Given the description of an element on the screen output the (x, y) to click on. 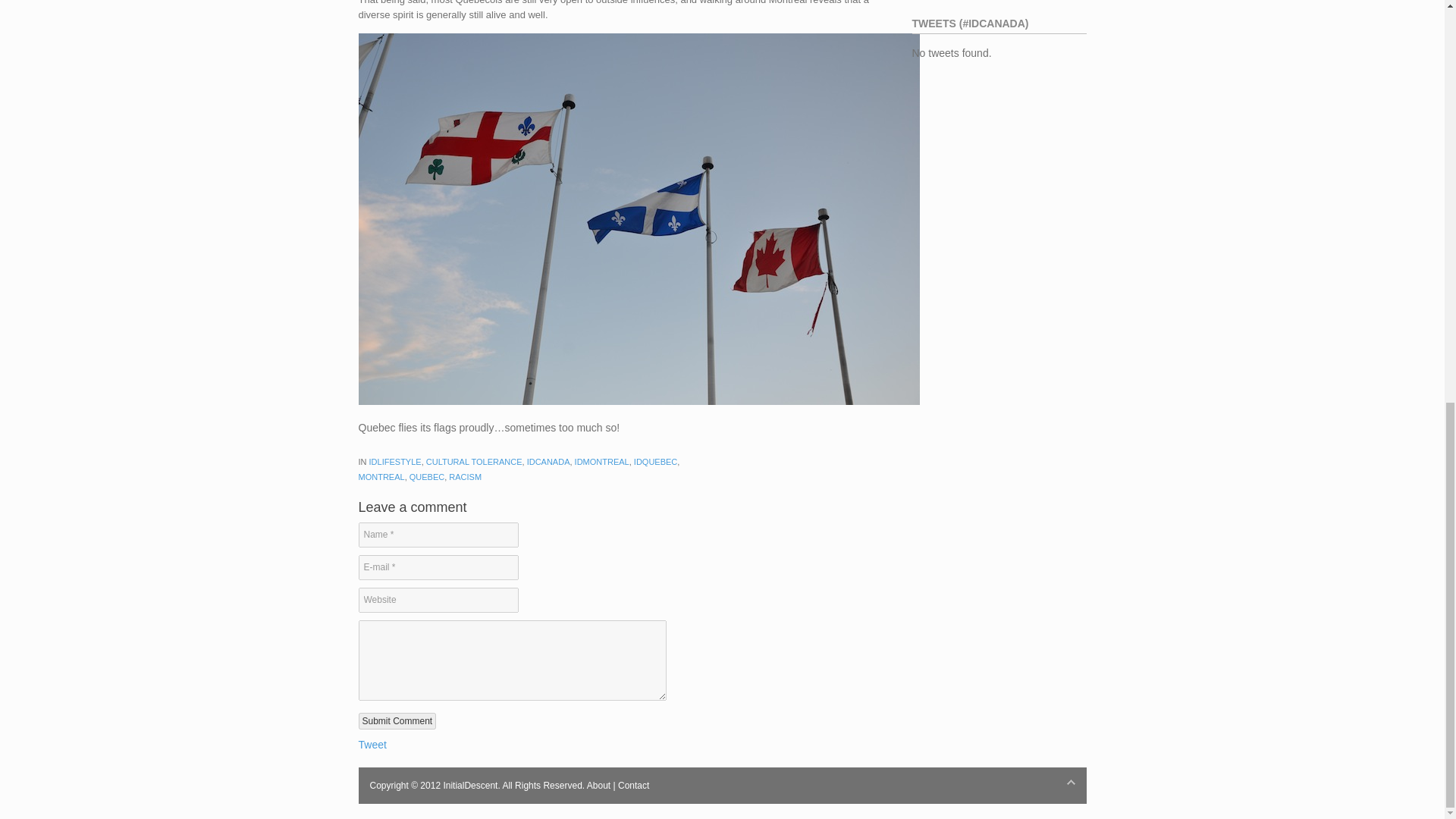
IDCANADA (548, 461)
IDMONTREAL (601, 461)
IDLIFESTYLE (395, 461)
MONTREAL (381, 476)
Submit Comment (396, 720)
CULTURAL TOLERANCE (474, 461)
QUEBEC (426, 476)
IDQUEBEC (655, 461)
